Given the description of an element on the screen output the (x, y) to click on. 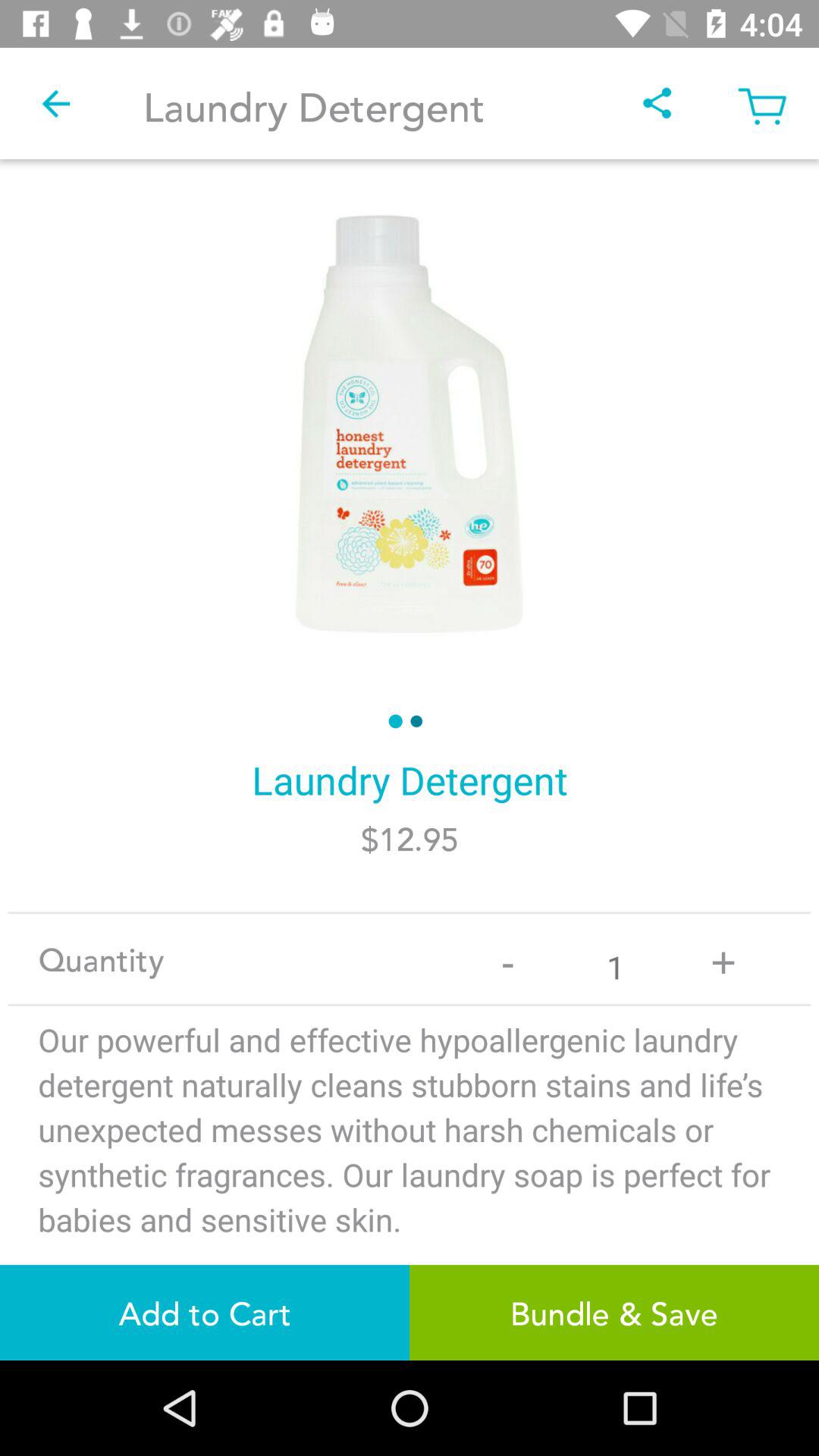
open icon next to 1 app (723, 958)
